Given the description of an element on the screen output the (x, y) to click on. 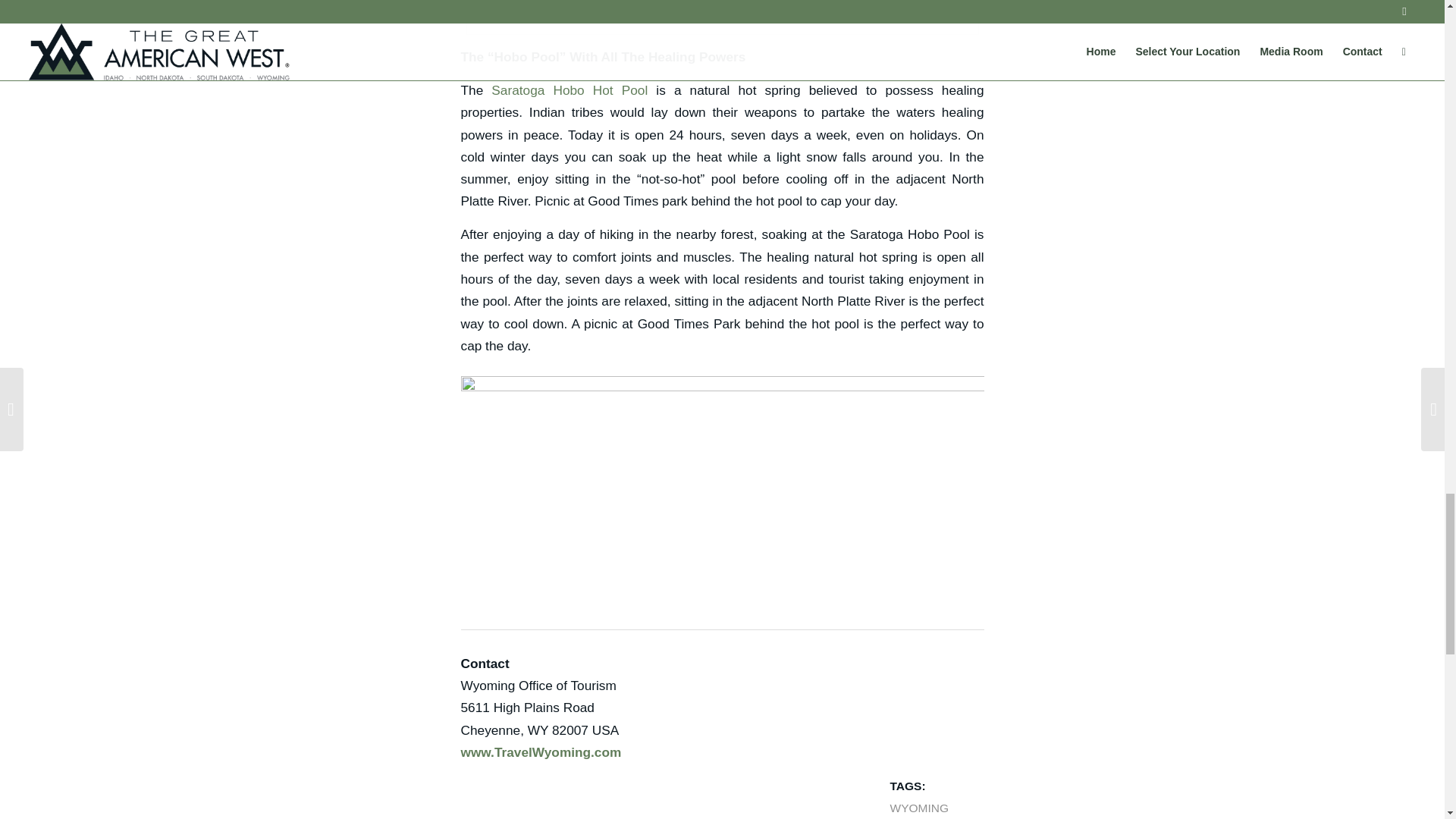
WYOMING (919, 807)
Saratoga Hobo Hot Pool (569, 89)
www.TravelWyoming.com (541, 752)
